Given the description of an element on the screen output the (x, y) to click on. 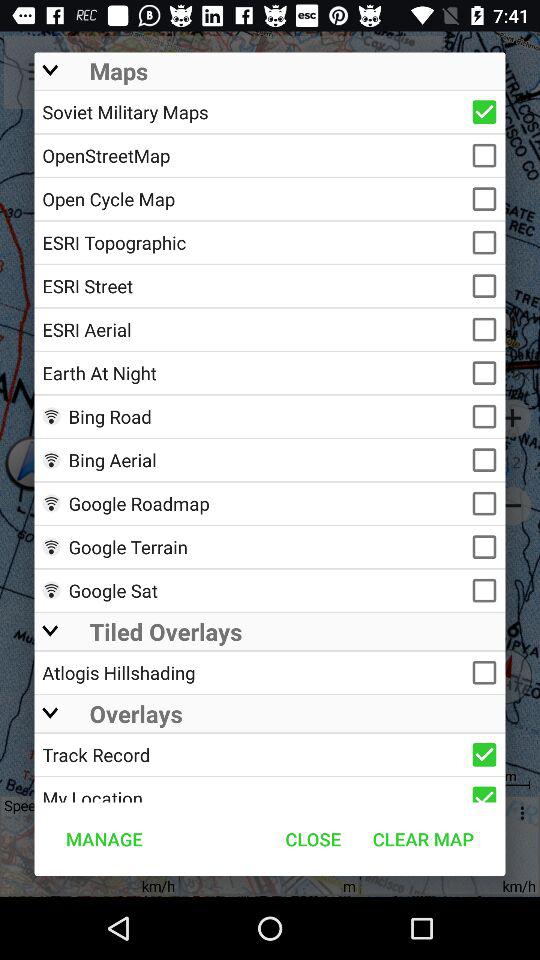
click icon next to manage (313, 838)
